Given the description of an element on the screen output the (x, y) to click on. 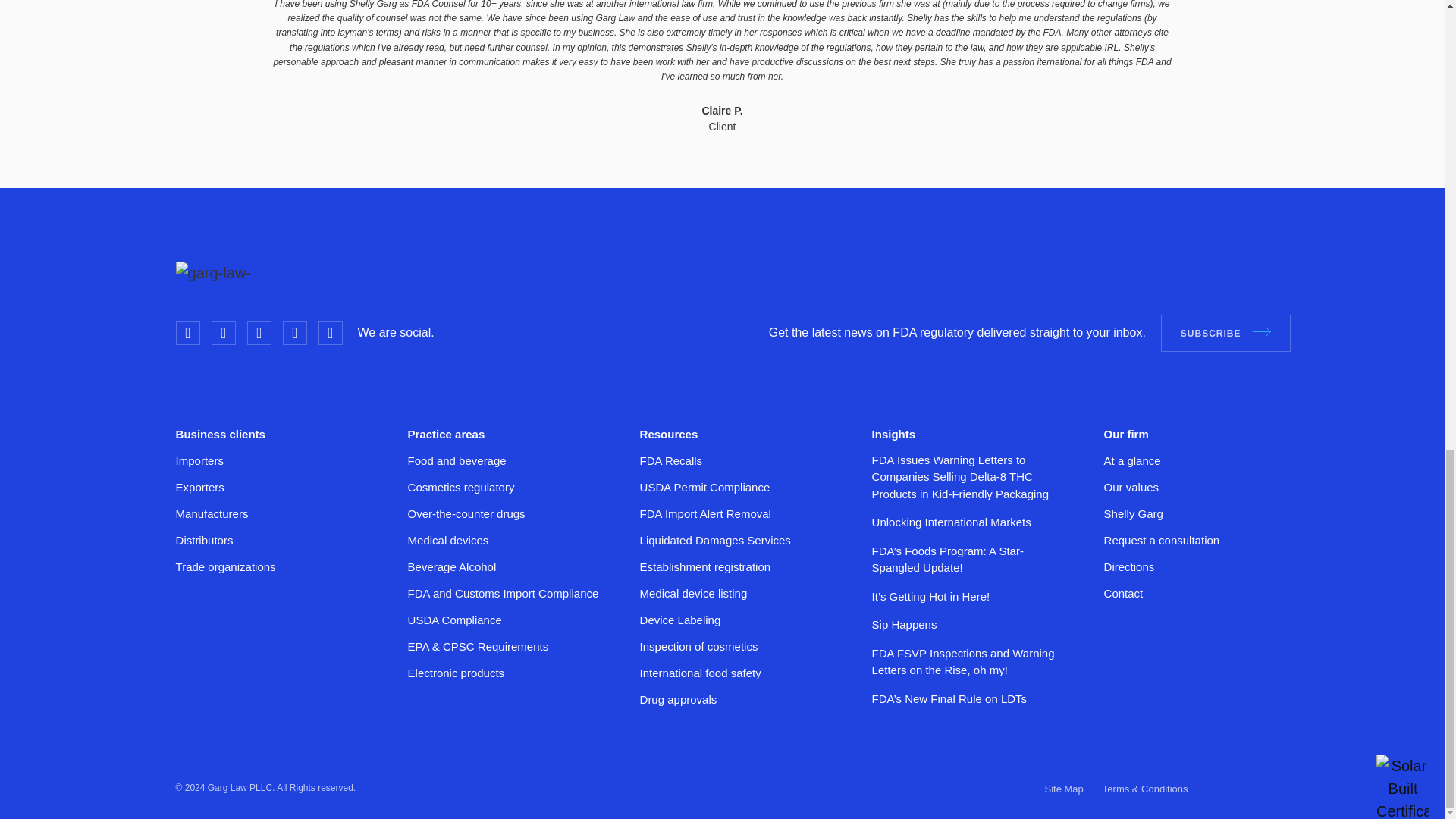
Distributors (204, 540)
Liquidated Damages Services (715, 540)
Medical devices (448, 540)
Food and beverage (456, 459)
Insights (893, 433)
SUBSCRIBE (1225, 332)
Importers (200, 459)
Establishment registration (705, 565)
Manufacturers (212, 512)
FDA and Customs Import Compliance (502, 593)
FDA Import Alert Removal (705, 512)
USDA Compliance (454, 618)
International food safety (700, 671)
FDA Recalls (671, 459)
Electronic products (456, 671)
